Given the description of an element on the screen output the (x, y) to click on. 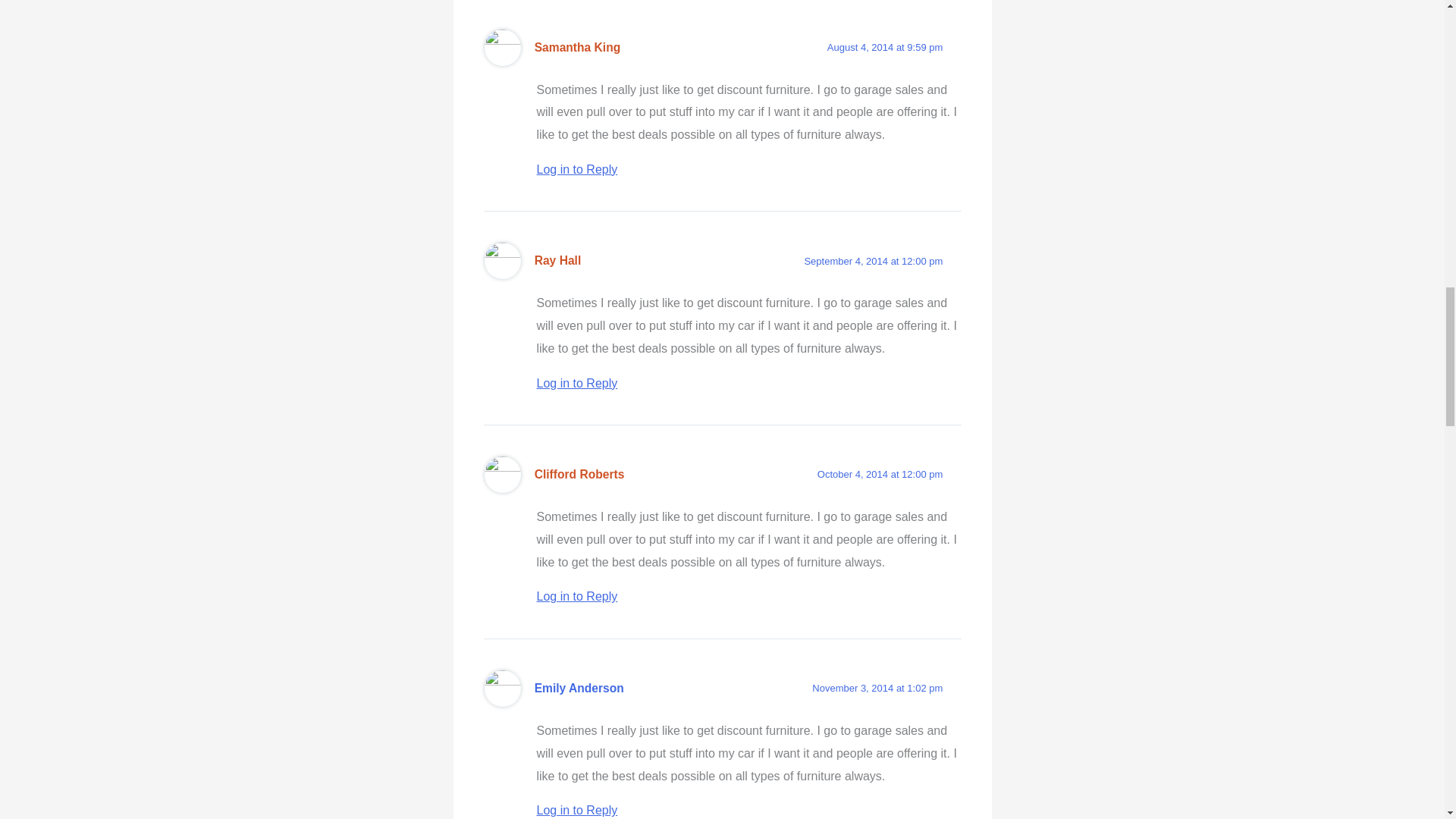
Log in to Reply (577, 595)
October 4, 2014 at 12:00 pm (879, 473)
Emily Anderson (579, 687)
August 4, 2014 at 9:59 pm (885, 47)
September 4, 2014 at 12:00 pm (872, 260)
Log in to Reply (577, 169)
November 3, 2014 at 1:02 pm (877, 687)
Log in to Reply (577, 809)
Log in to Reply (577, 382)
